Given the description of an element on the screen output the (x, y) to click on. 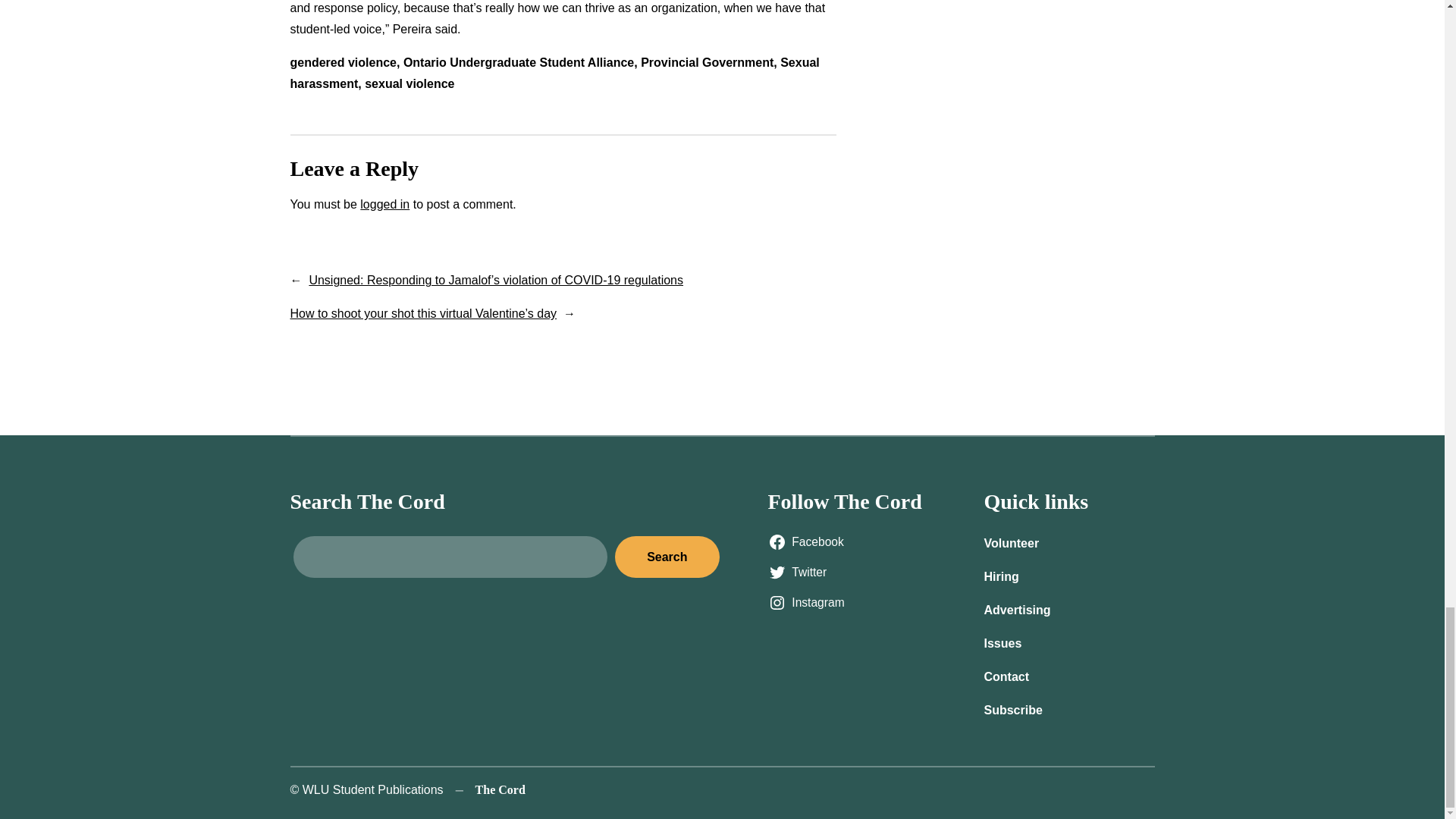
Provincial Government (706, 62)
gendered violence (342, 62)
Sexual harassment (553, 73)
logged in (384, 204)
sexual violence (409, 83)
Ontario Undergraduate Student Alliance (518, 62)
